Given the description of an element on the screen output the (x, y) to click on. 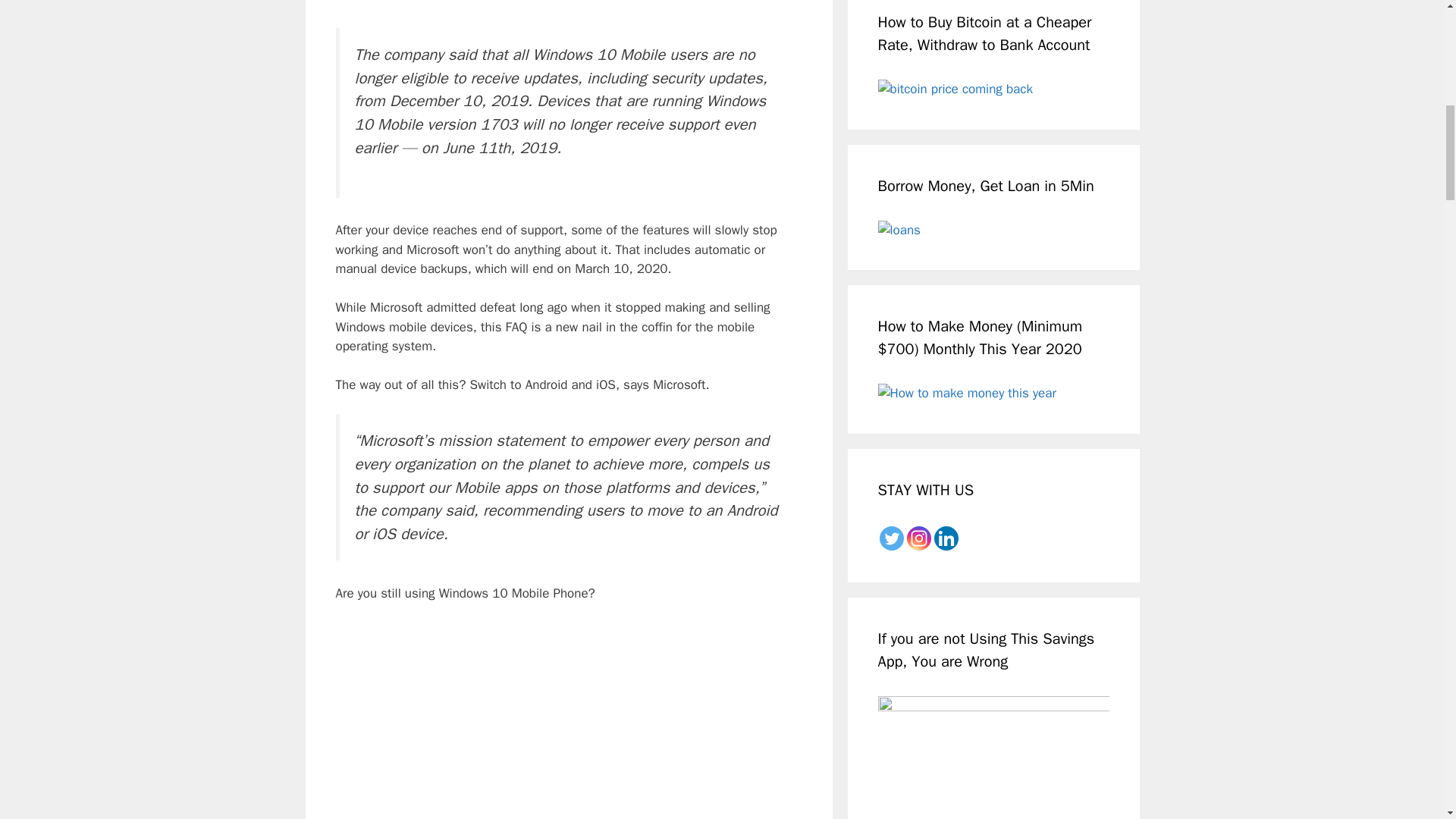
Twitter (891, 538)
Linkedin (946, 538)
Instagram (919, 538)
